Given the description of an element on the screen output the (x, y) to click on. 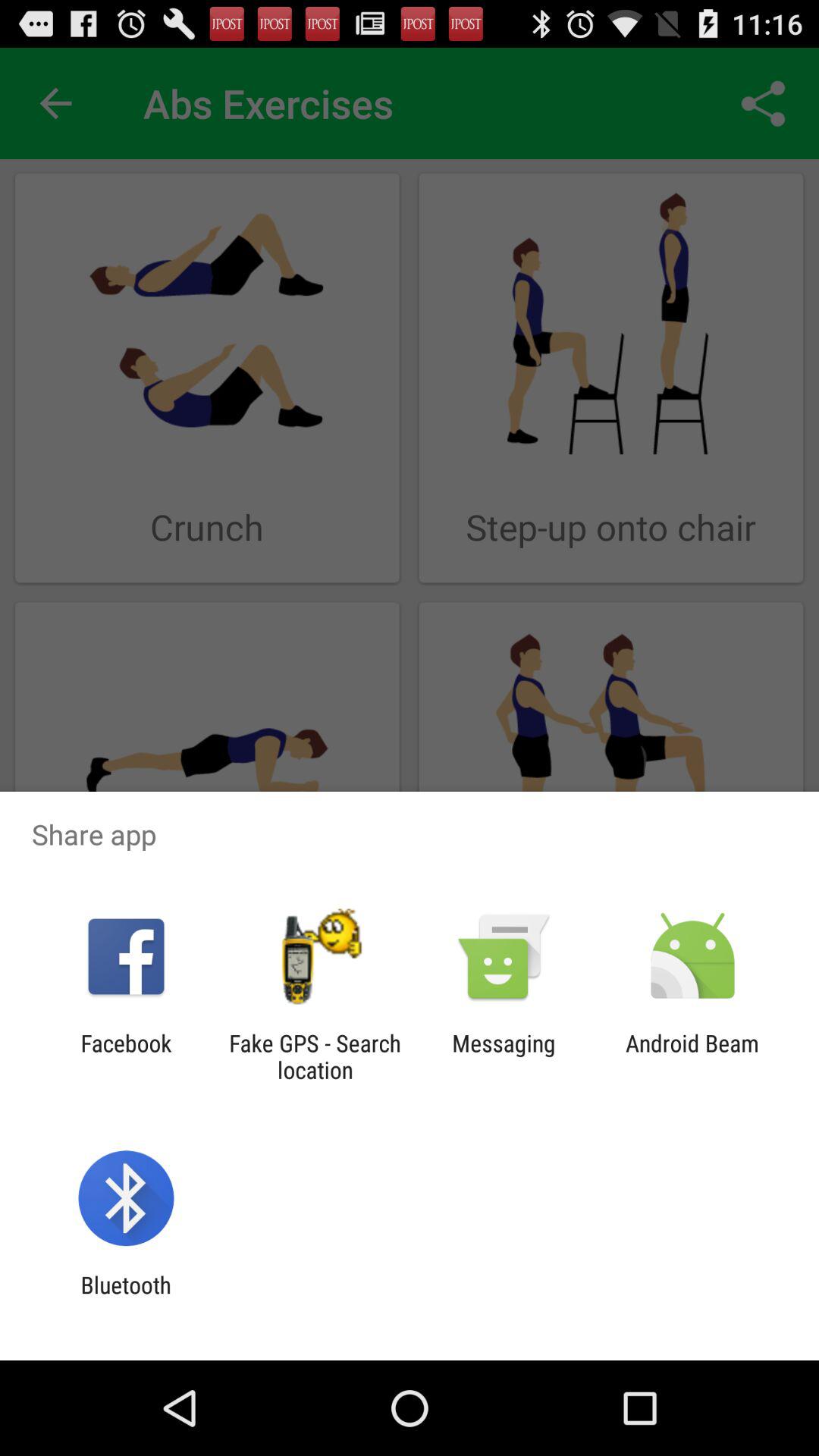
press item to the right of abs exercises item (763, 103)
